Given the description of an element on the screen output the (x, y) to click on. 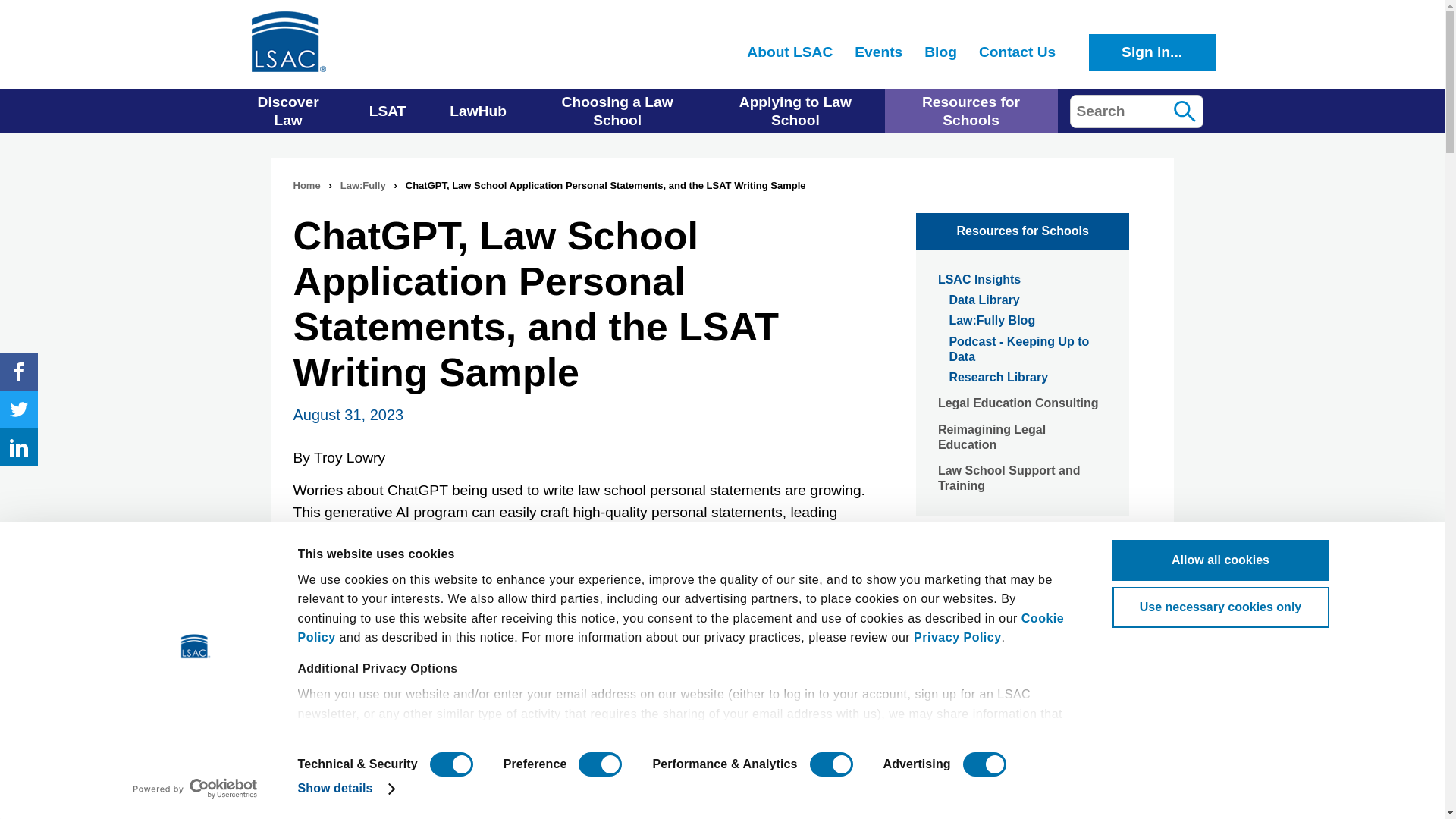
Show details (345, 788)
Cookie Policy (680, 627)
Search (1184, 111)
Cookie Policy (680, 627)
Privacy Policy (957, 636)
Privacy Policy (957, 636)
